Given the description of an element on the screen output the (x, y) to click on. 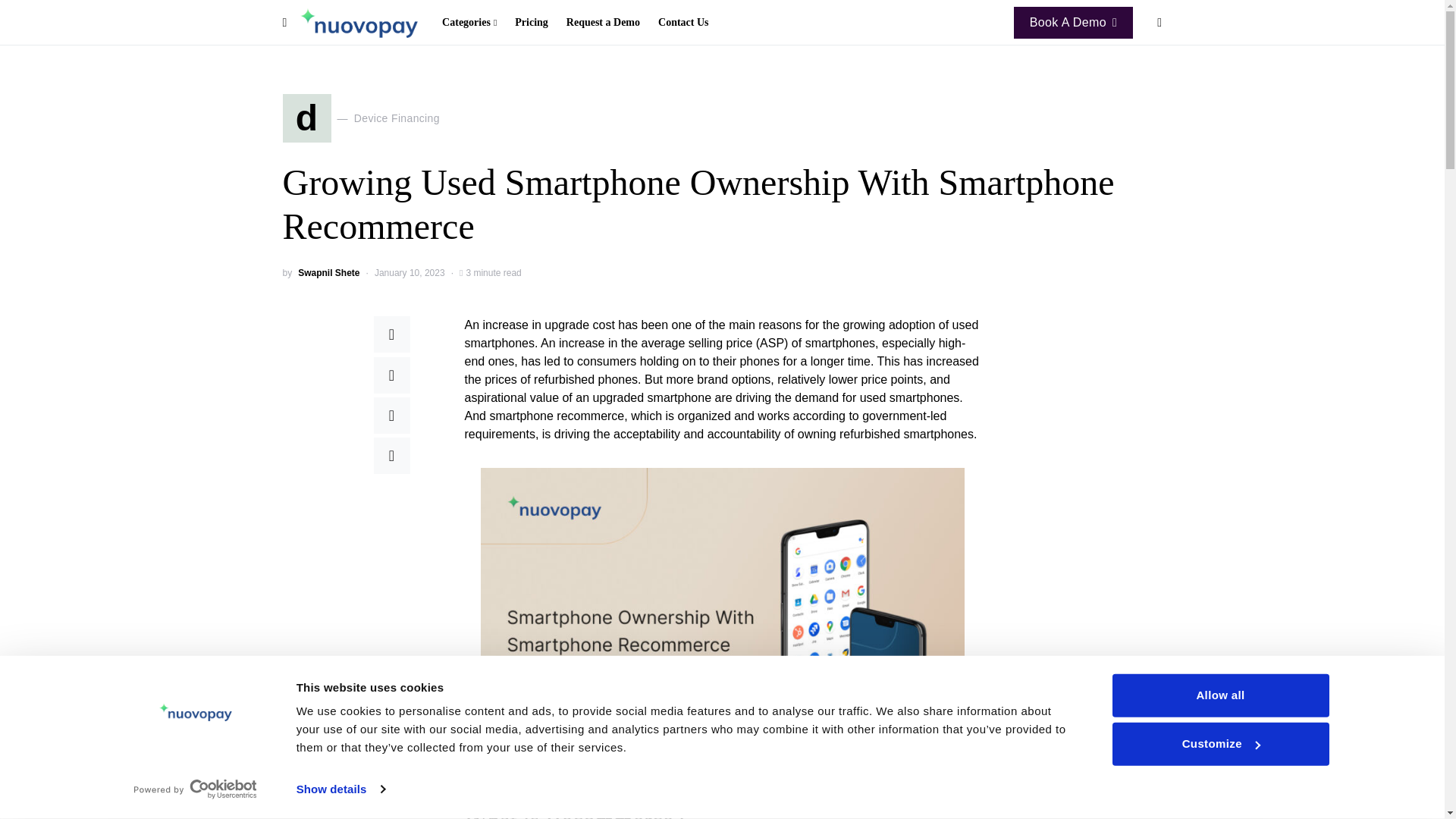
View all posts by Swapnil Shete (328, 273)
Show details (340, 789)
Customize (1219, 743)
Allow all (1219, 695)
